Given the description of an element on the screen output the (x, y) to click on. 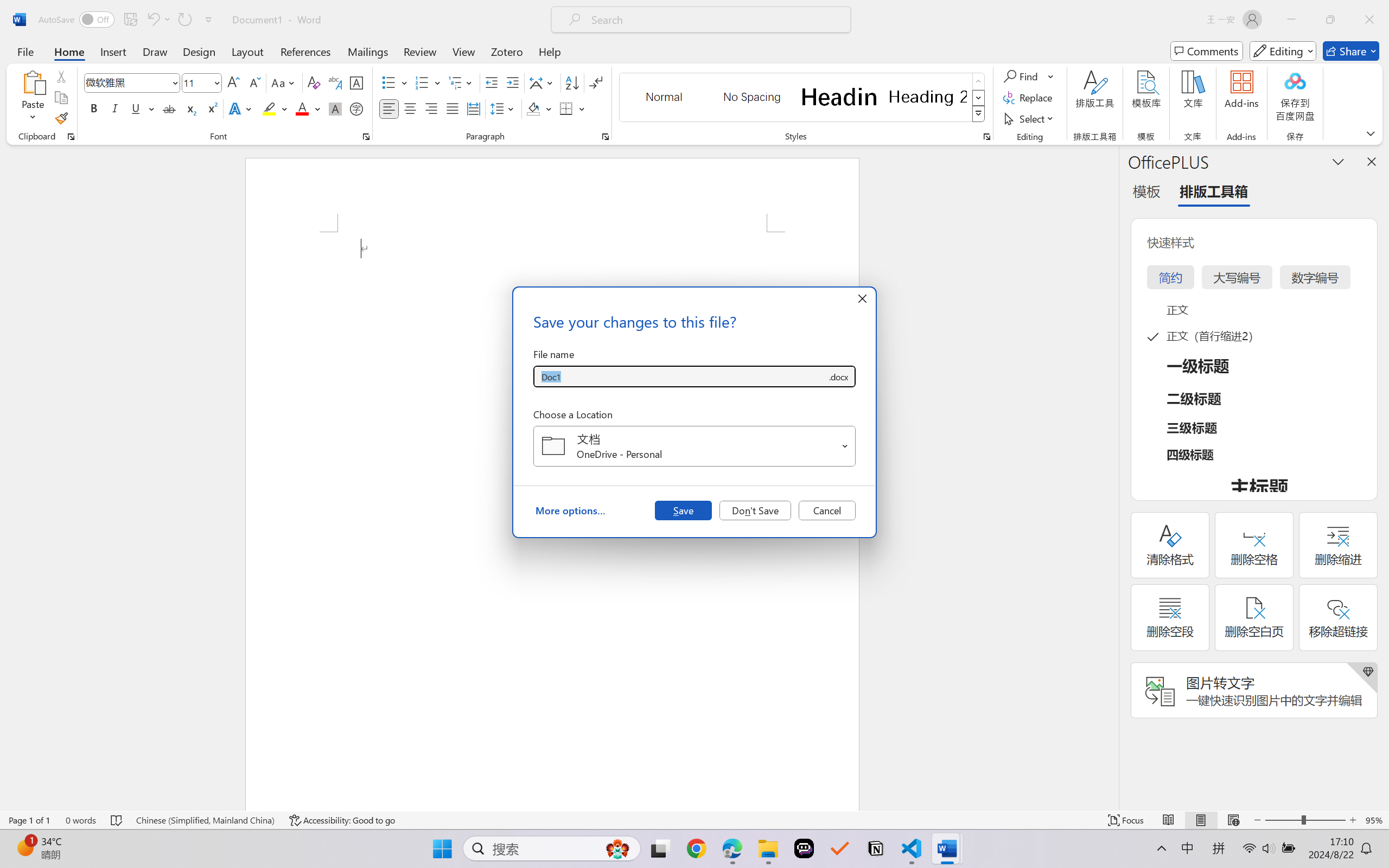
Cancel (826, 509)
Font Color Red (302, 108)
